Given the description of an element on the screen output the (x, y) to click on. 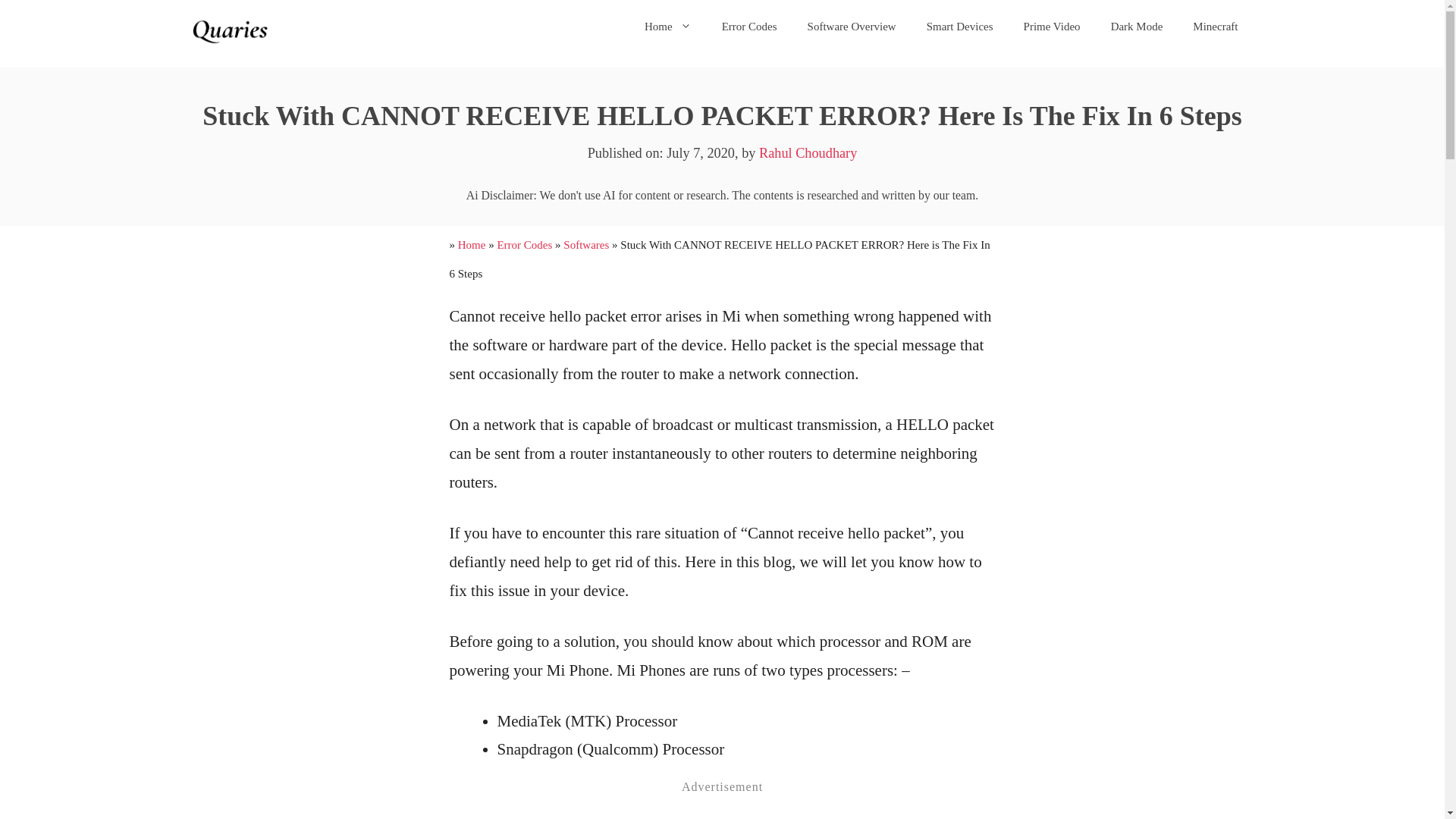
View all posts by Rahul Choudhary (807, 152)
Minecraft (1214, 26)
Dark Mode (1136, 26)
Software Overview (851, 26)
Rahul Choudhary (807, 152)
Error Codes (749, 26)
Home (472, 244)
Smart Devices (960, 26)
Prime Video (1052, 26)
Error Codes (523, 244)
Softwares (585, 244)
Home (667, 26)
